Given the description of an element on the screen output the (x, y) to click on. 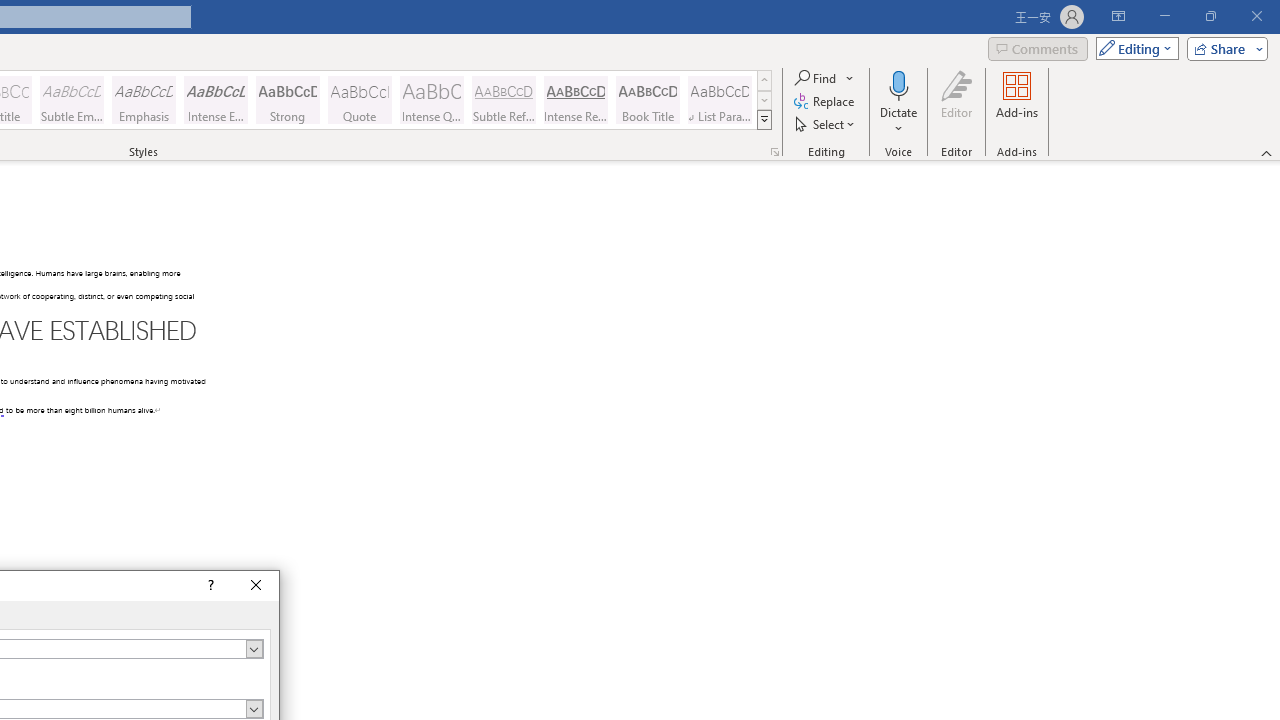
Row Down (763, 100)
Quote (359, 100)
Editor (956, 102)
Select (826, 124)
Mode (1133, 47)
Strong (287, 100)
